Given the description of an element on the screen output the (x, y) to click on. 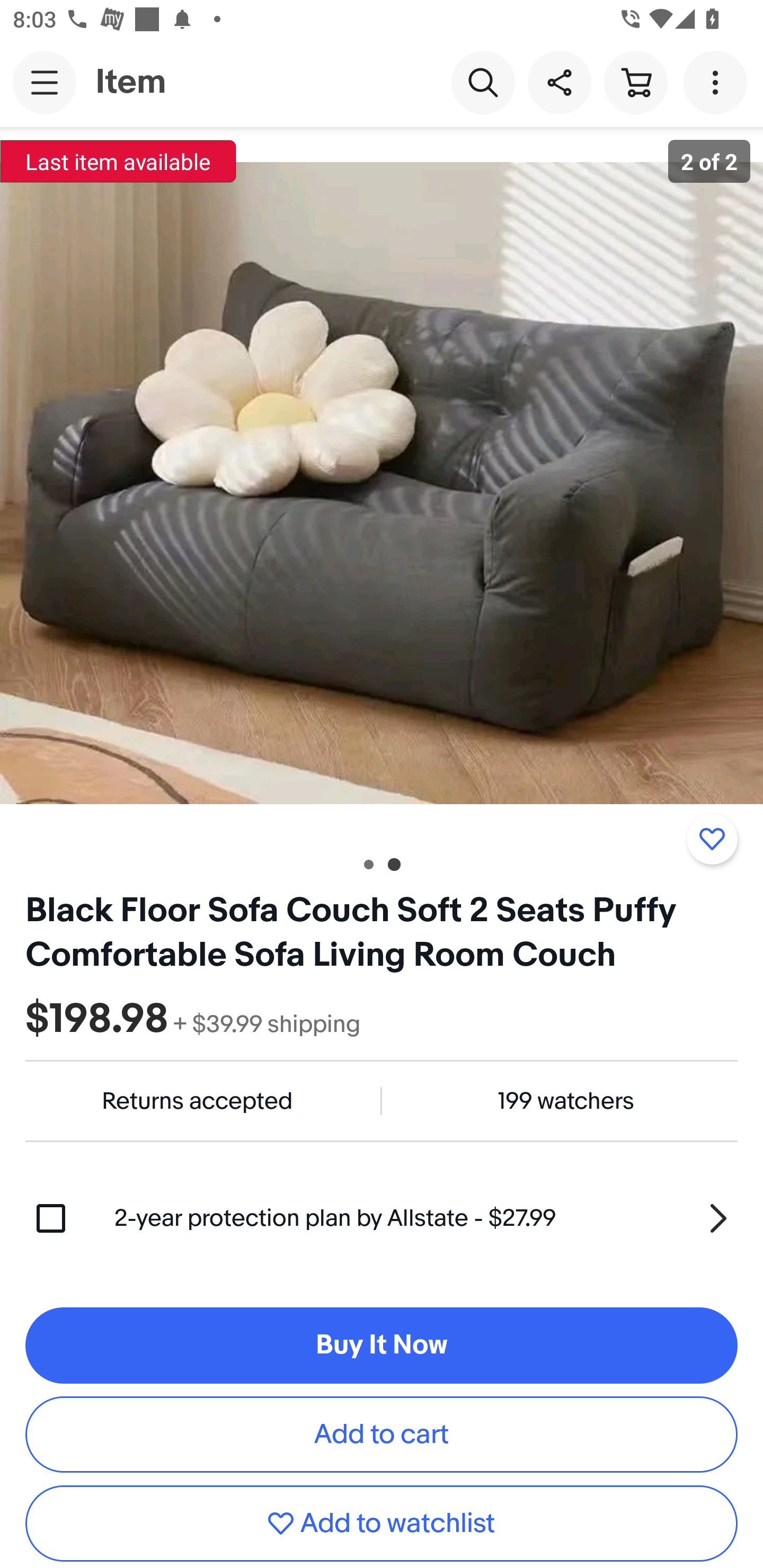
Main navigation, open (44, 82)
Search (482, 81)
Share this item (559, 81)
Cart button shopping cart (635, 81)
More options (718, 81)
Item image 2 of 2 (381, 482)
Last item available (118, 161)
Add to watchlist (711, 838)
2-year protection plan by Allstate - $27.99 (425, 1218)
Buy It Now (381, 1344)
Add to cart (381, 1434)
Add to watchlist (381, 1522)
